Given the description of an element on the screen output the (x, y) to click on. 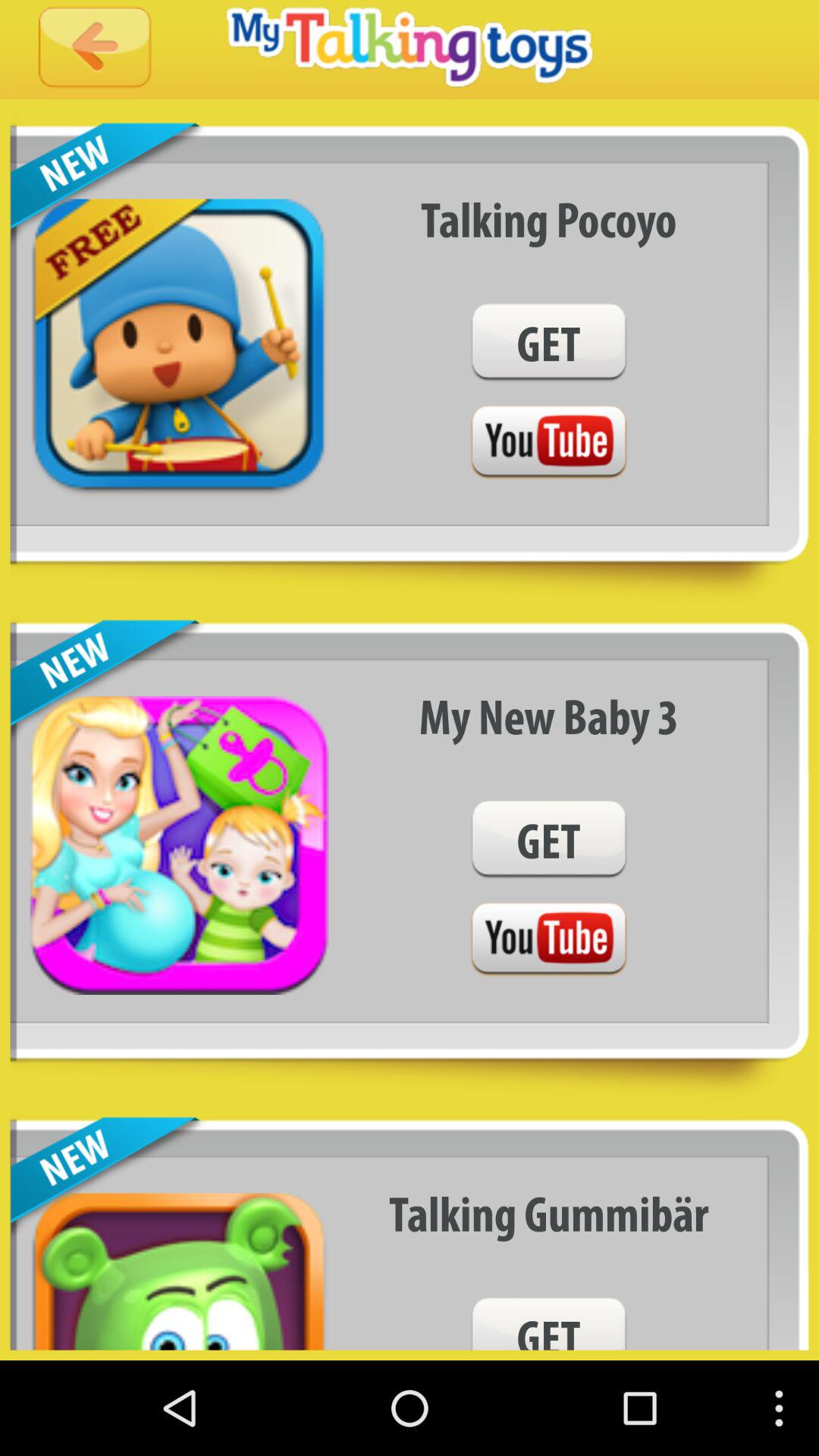
go back (94, 49)
